Given the description of an element on the screen output the (x, y) to click on. 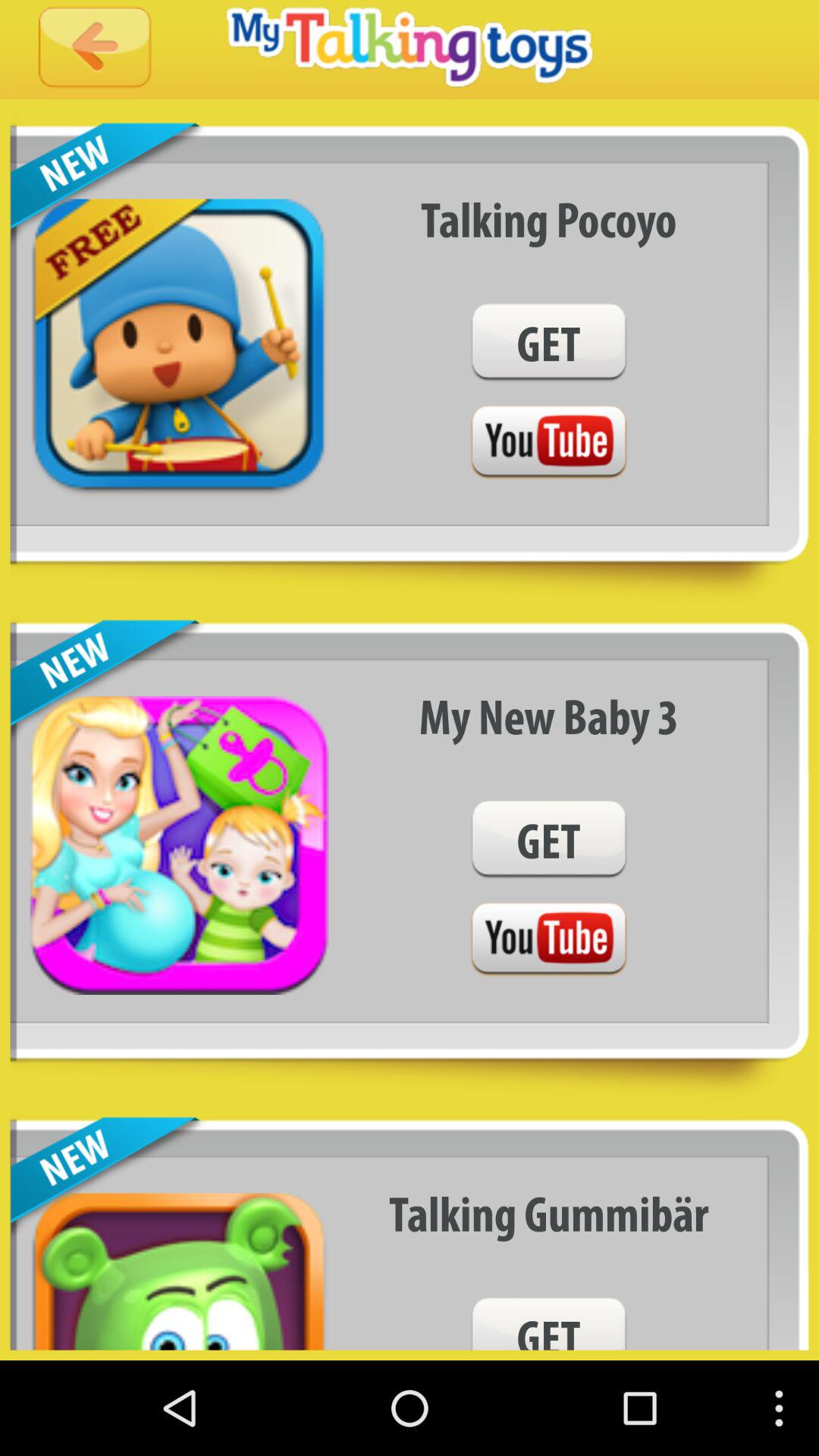
go back (94, 49)
